Given the description of an element on the screen output the (x, y) to click on. 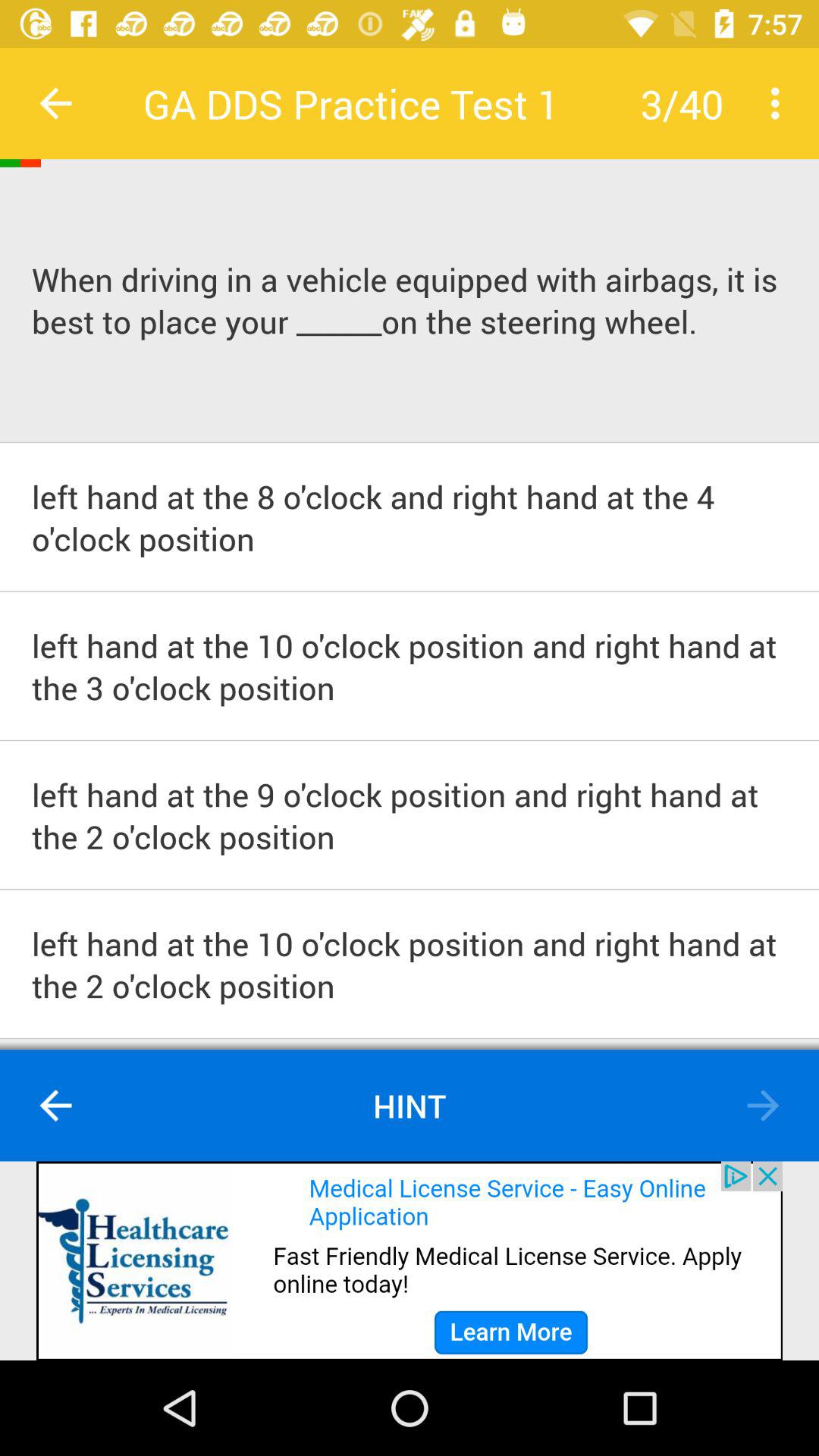
go back (55, 1105)
